Given the description of an element on the screen output the (x, y) to click on. 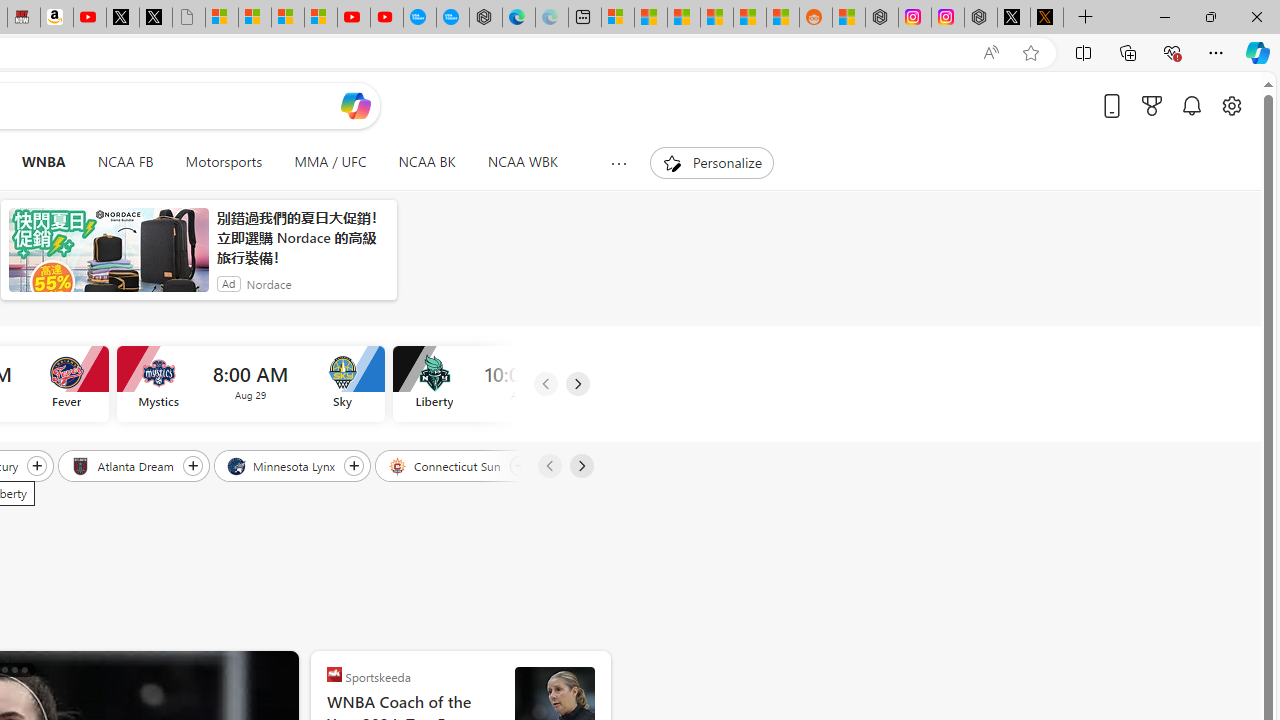
NCAA FB (125, 162)
Day 1: Arriving in Yemen (surreal to be here) - YouTube (90, 17)
Notifications (1192, 105)
Microsoft rewards (1151, 105)
NCAA BK (426, 162)
Atlanta Dream (123, 465)
YouTube Kids - An App Created for Kids to Explore Content (387, 17)
WNBA (43, 162)
help.x.com | 524: A timeout occurred (1046, 17)
Mystics vs Sky Time 8:00 AM Date Aug 29 (250, 383)
